Given the description of an element on the screen output the (x, y) to click on. 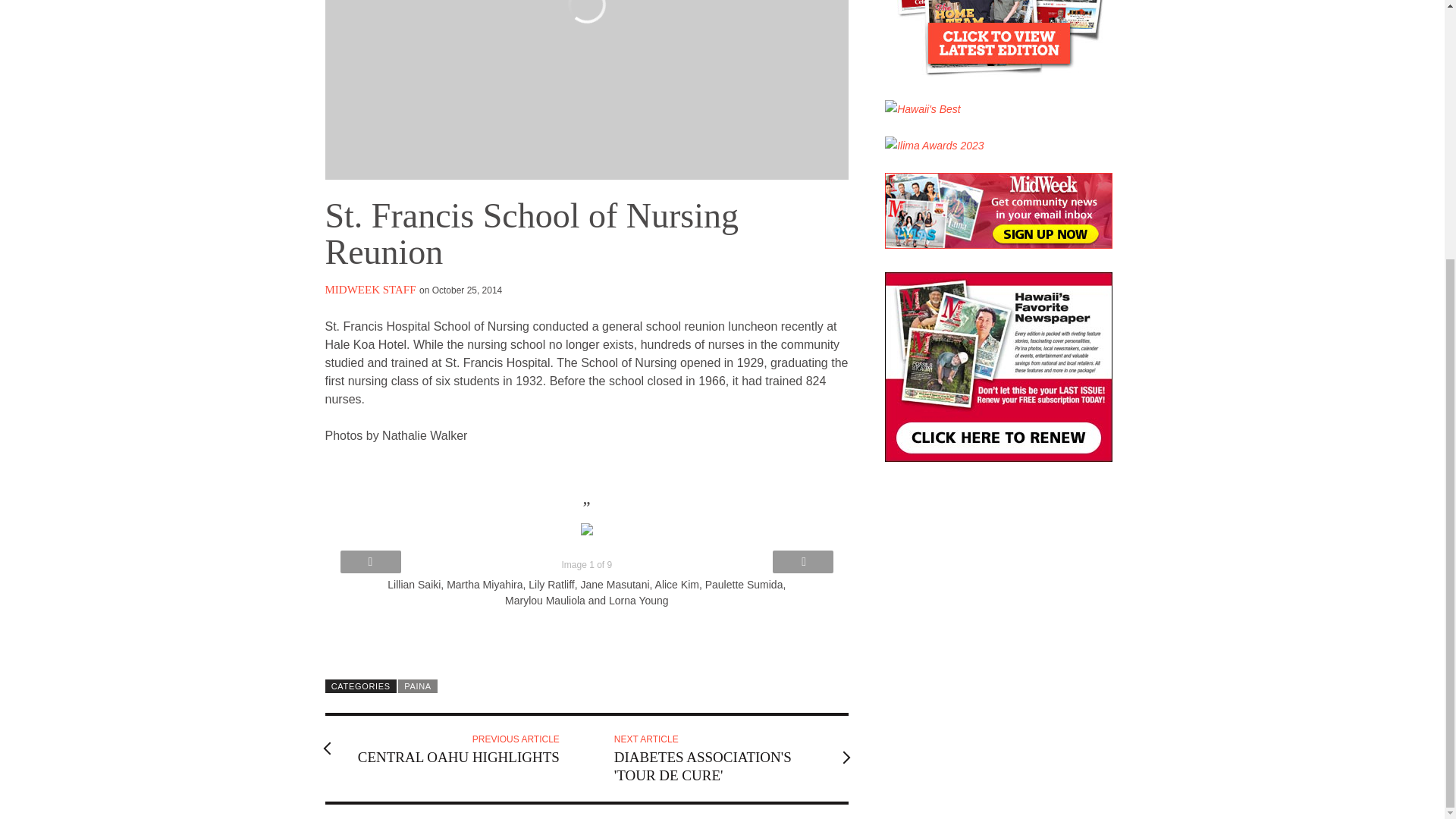
MIDWEEK STAFF (369, 288)
PAINA (417, 685)
View all posts in Paina (417, 685)
Posts by MidWeek Staff (450, 748)
